Given the description of an element on the screen output the (x, y) to click on. 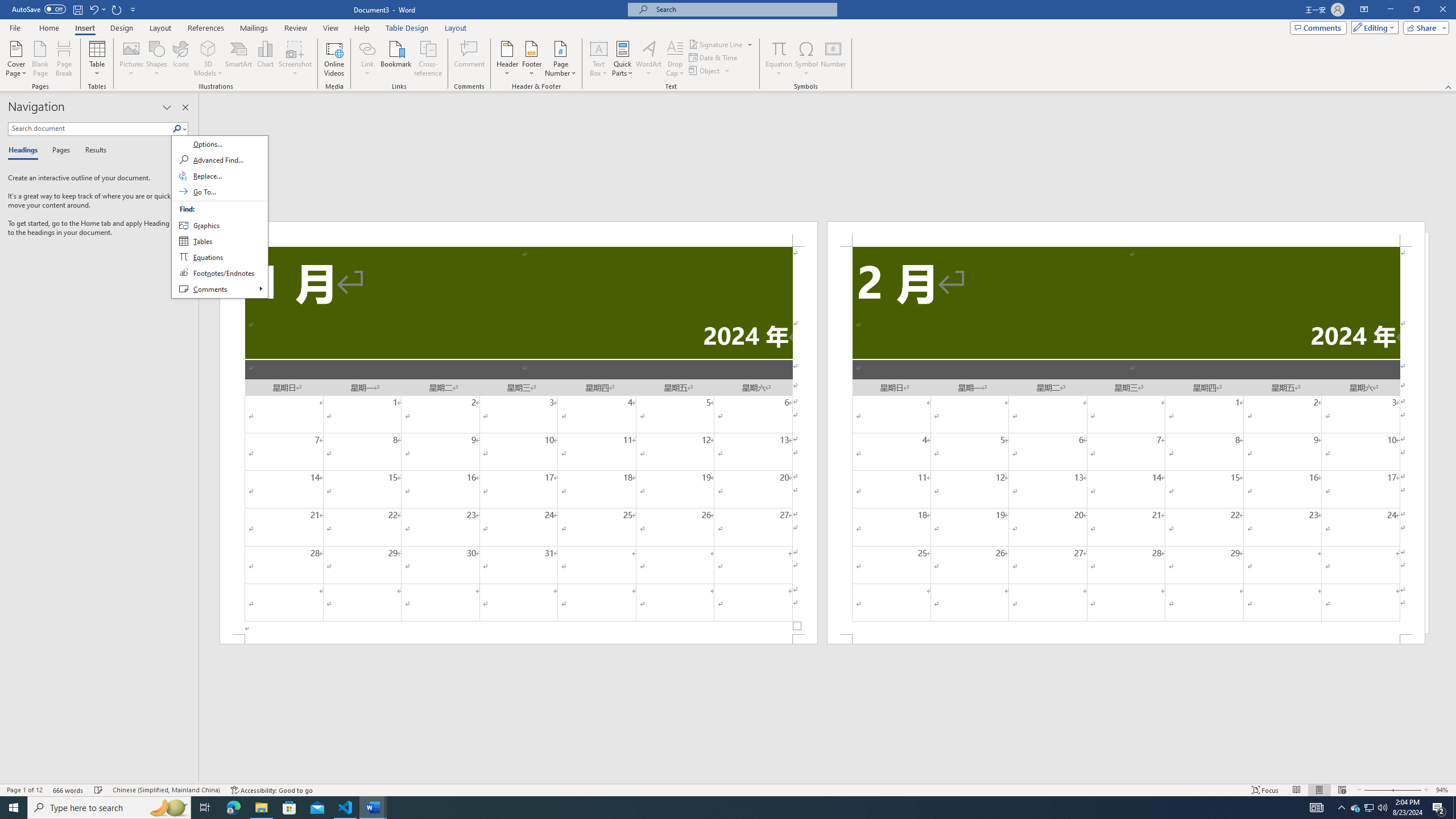
Page Break (63, 58)
Quick Parts (622, 58)
Comment (469, 58)
Header -Section 2- (1126, 233)
Text Box (598, 58)
Cover Page (16, 58)
Symbol (806, 58)
